Given the description of an element on the screen output the (x, y) to click on. 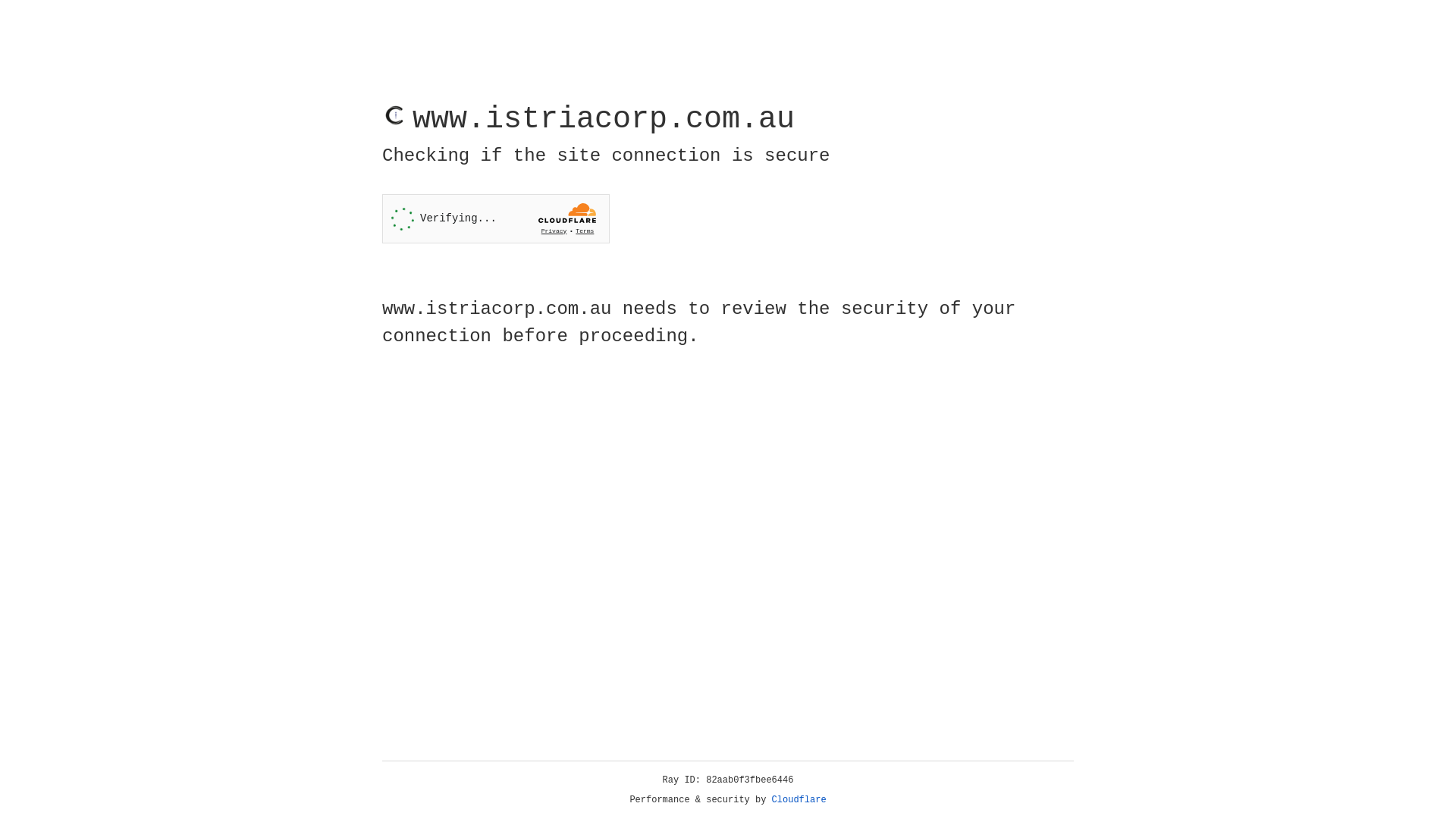
Cloudflare Element type: text (798, 799)
Widget containing a Cloudflare security challenge Element type: hover (495, 218)
